Given the description of an element on the screen output the (x, y) to click on. 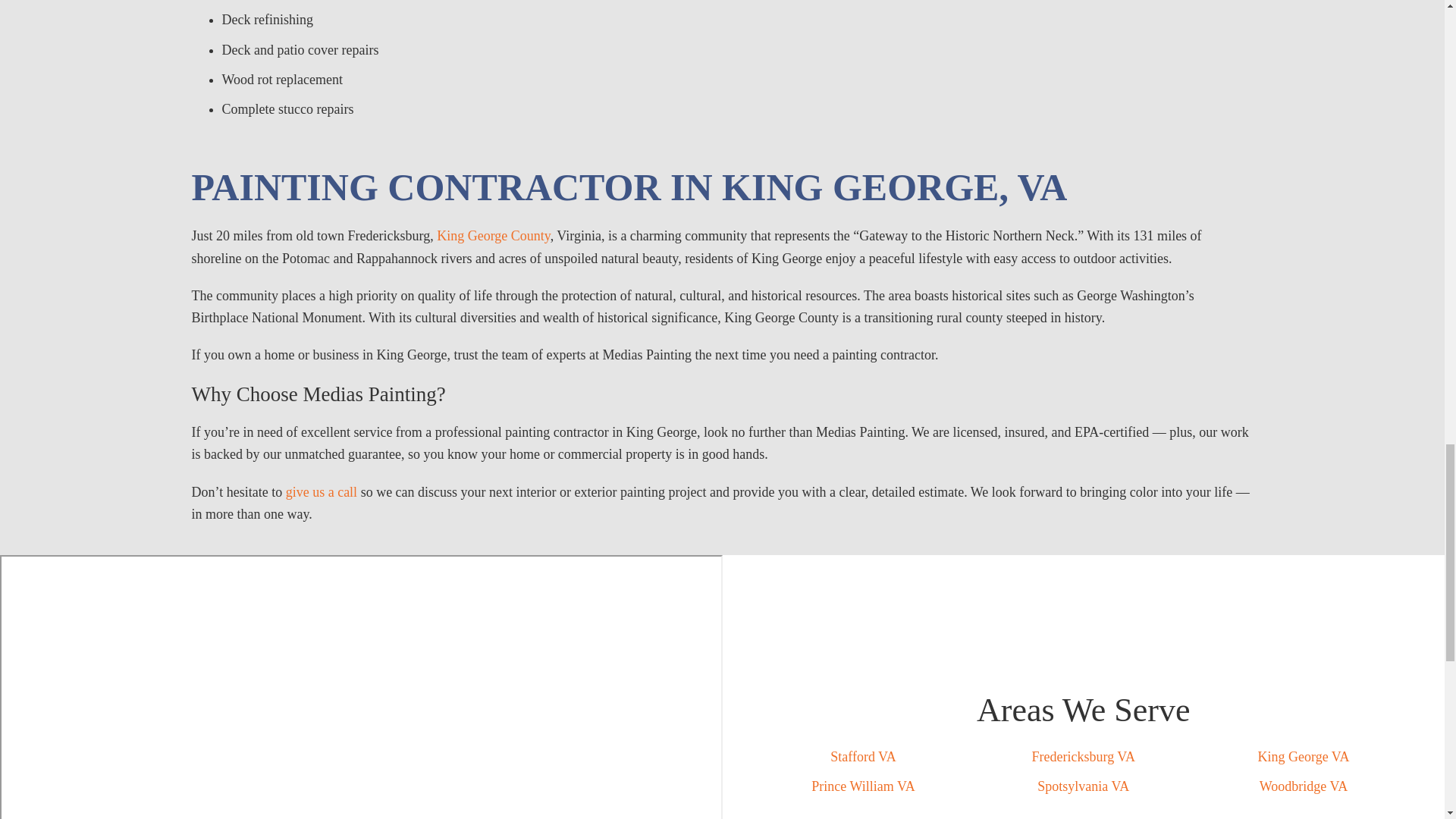
Fredericksburg VA (1082, 756)
give us a call (320, 491)
Woodbridge VA (1303, 785)
Spotsylvania VA (1082, 785)
Prince William VA (862, 785)
Stafford VA (862, 756)
King George County (493, 235)
King George VA (1303, 756)
